Given the description of an element on the screen output the (x, y) to click on. 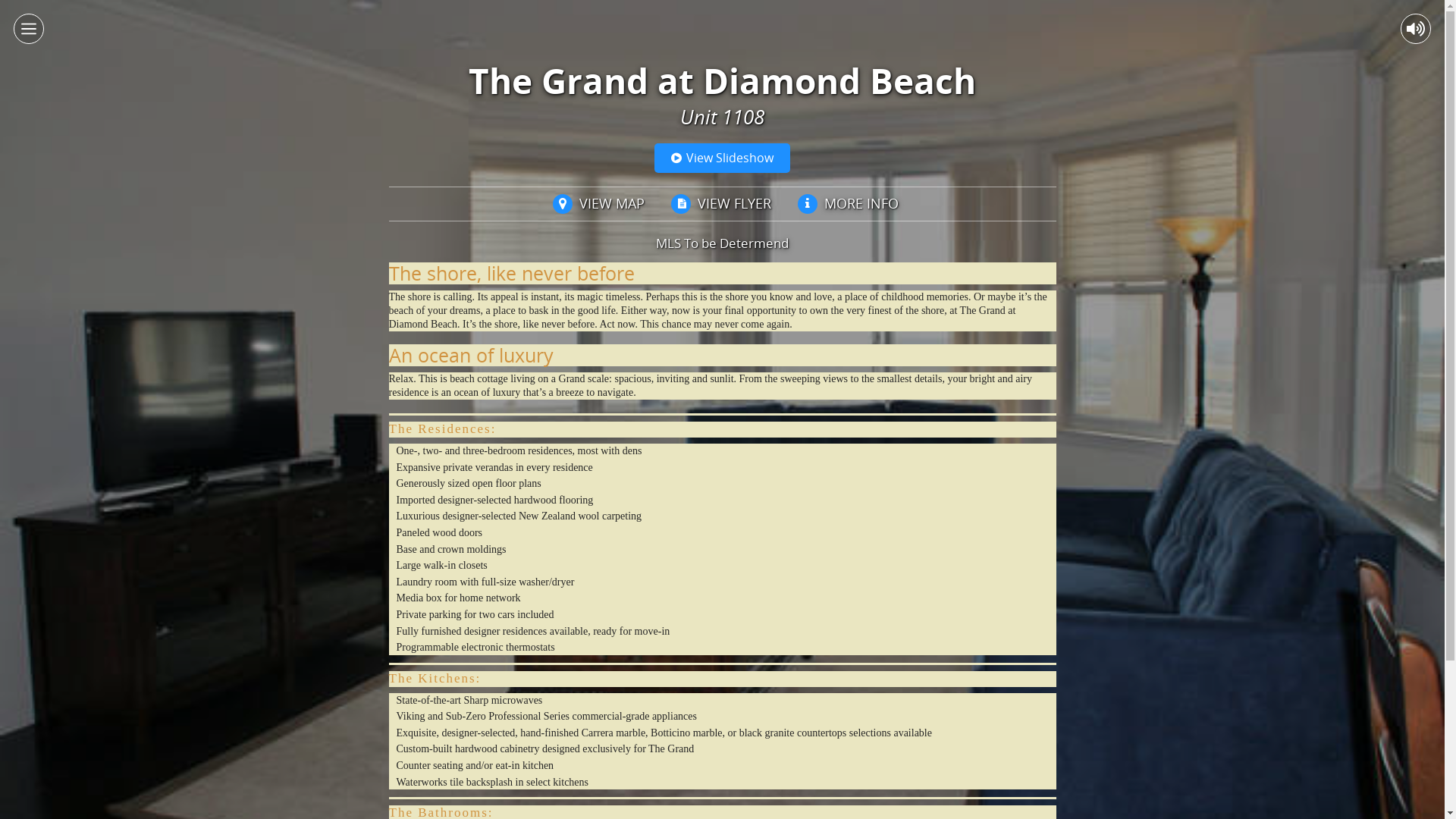
VIEW FLYER Element type: text (717, 203)
